Given the description of an element on the screen output the (x, y) to click on. 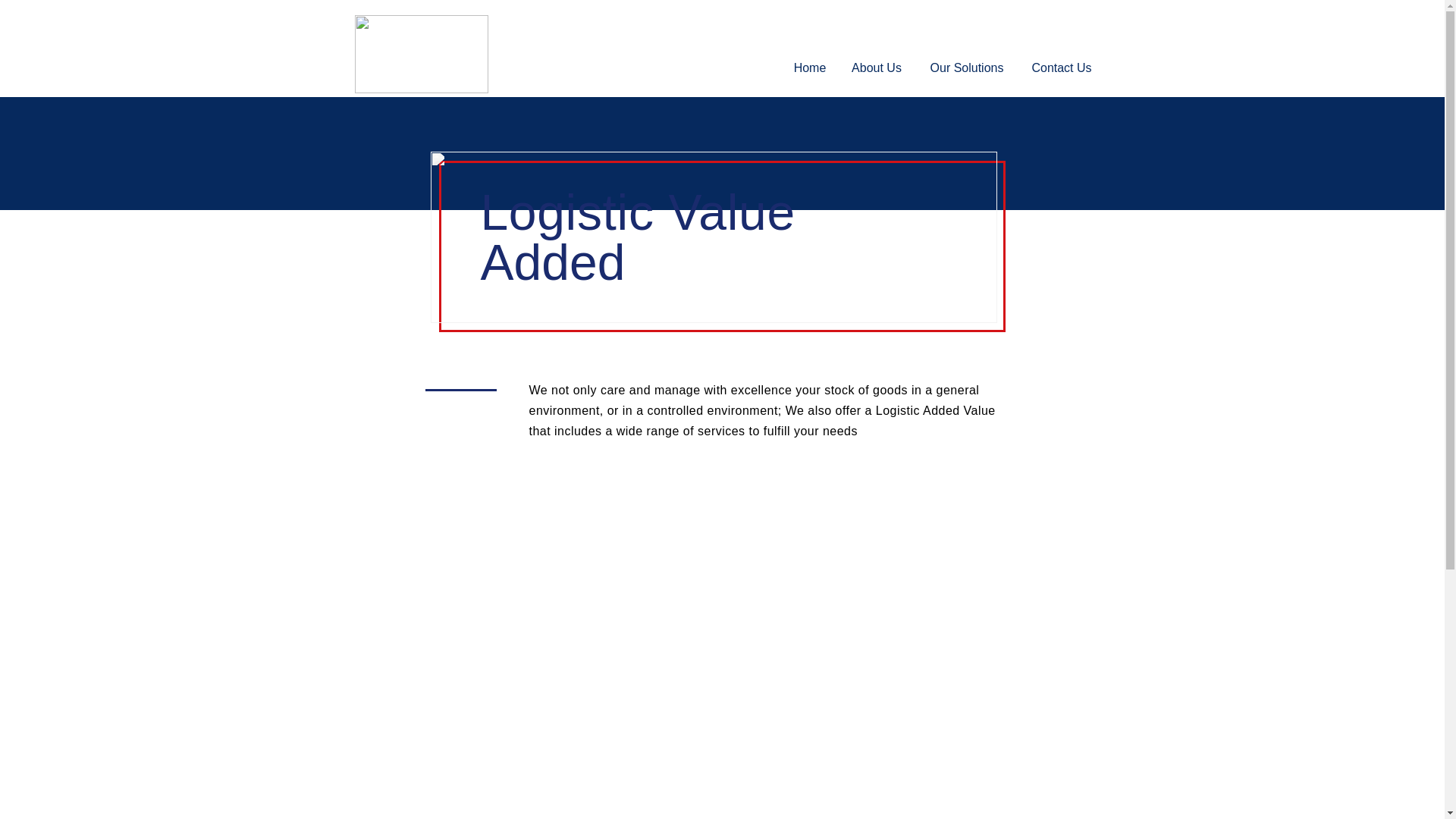
About Us (875, 68)
Home (809, 68)
Contact Us (1061, 68)
